Given the description of an element on the screen output the (x, y) to click on. 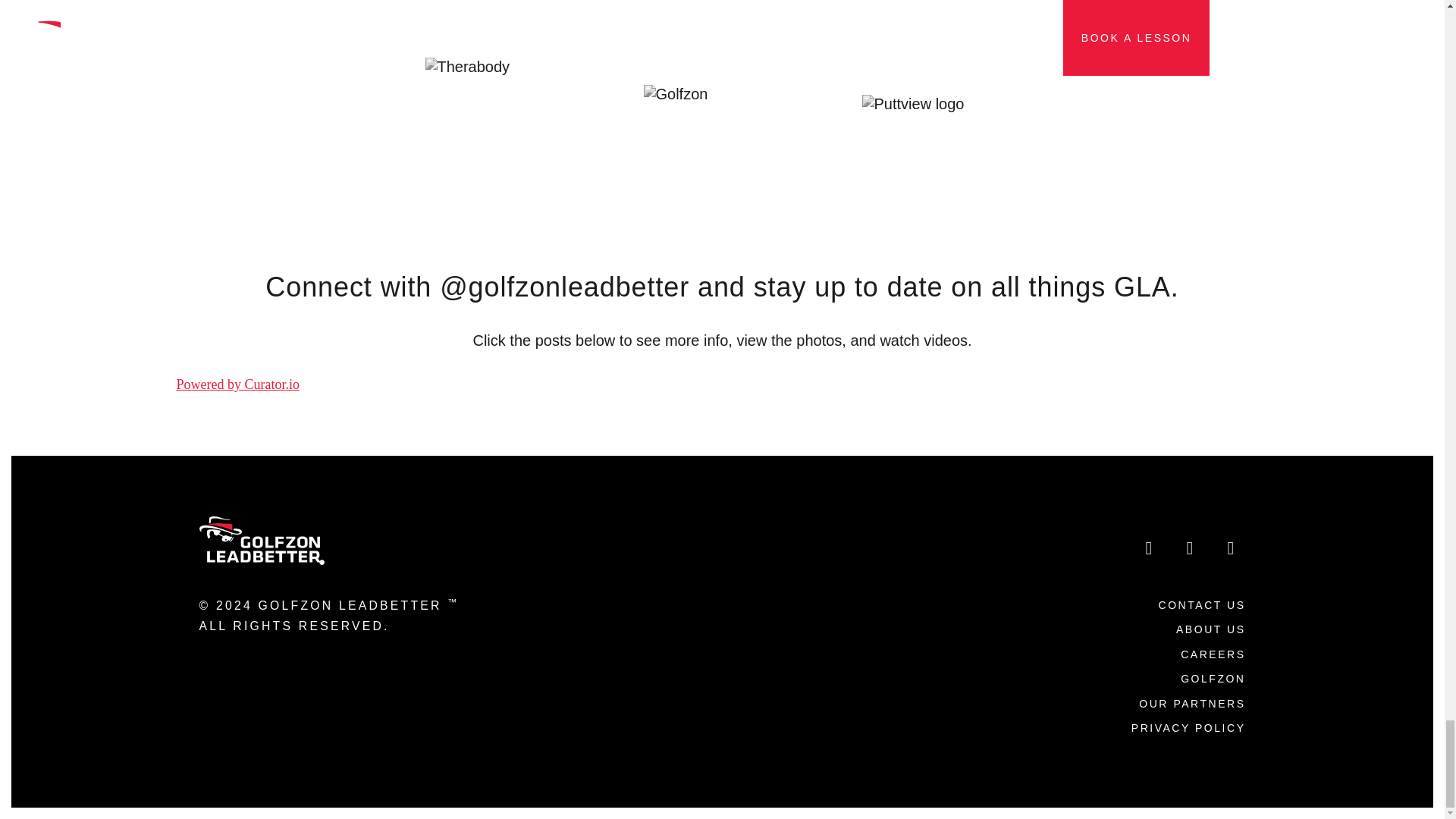
Golfzon Leadbetter (260, 538)
